Given the description of an element on the screen output the (x, y) to click on. 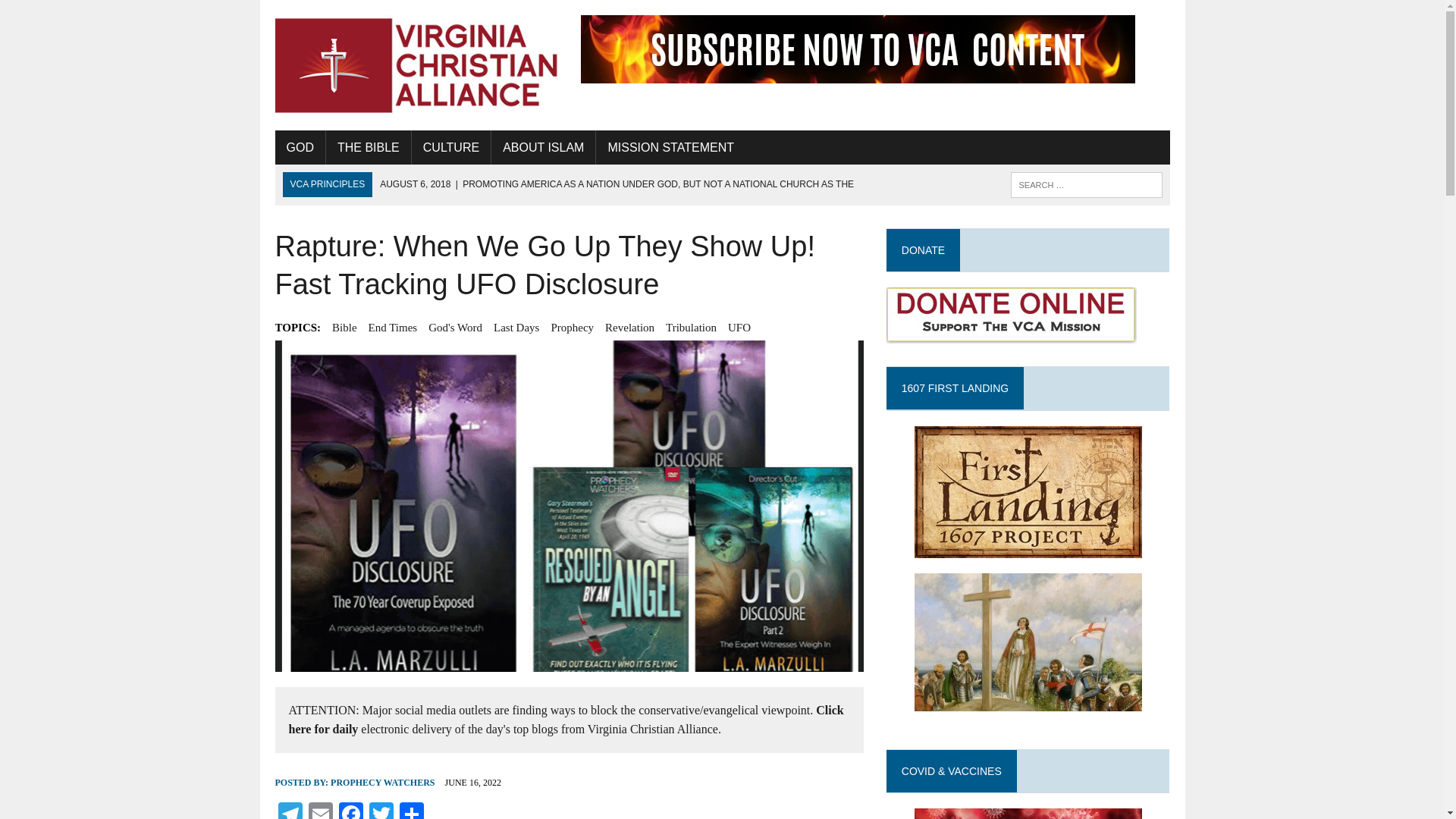
CULTURE (451, 147)
Facebook (349, 810)
Twitter (380, 810)
Email (319, 810)
Virginia Christian Alliance (416, 65)
THE BIBLE (368, 147)
GOD (299, 147)
MISSION STATEMENT (670, 147)
ABOUT ISLAM (543, 147)
